Given the description of an element on the screen output the (x, y) to click on. 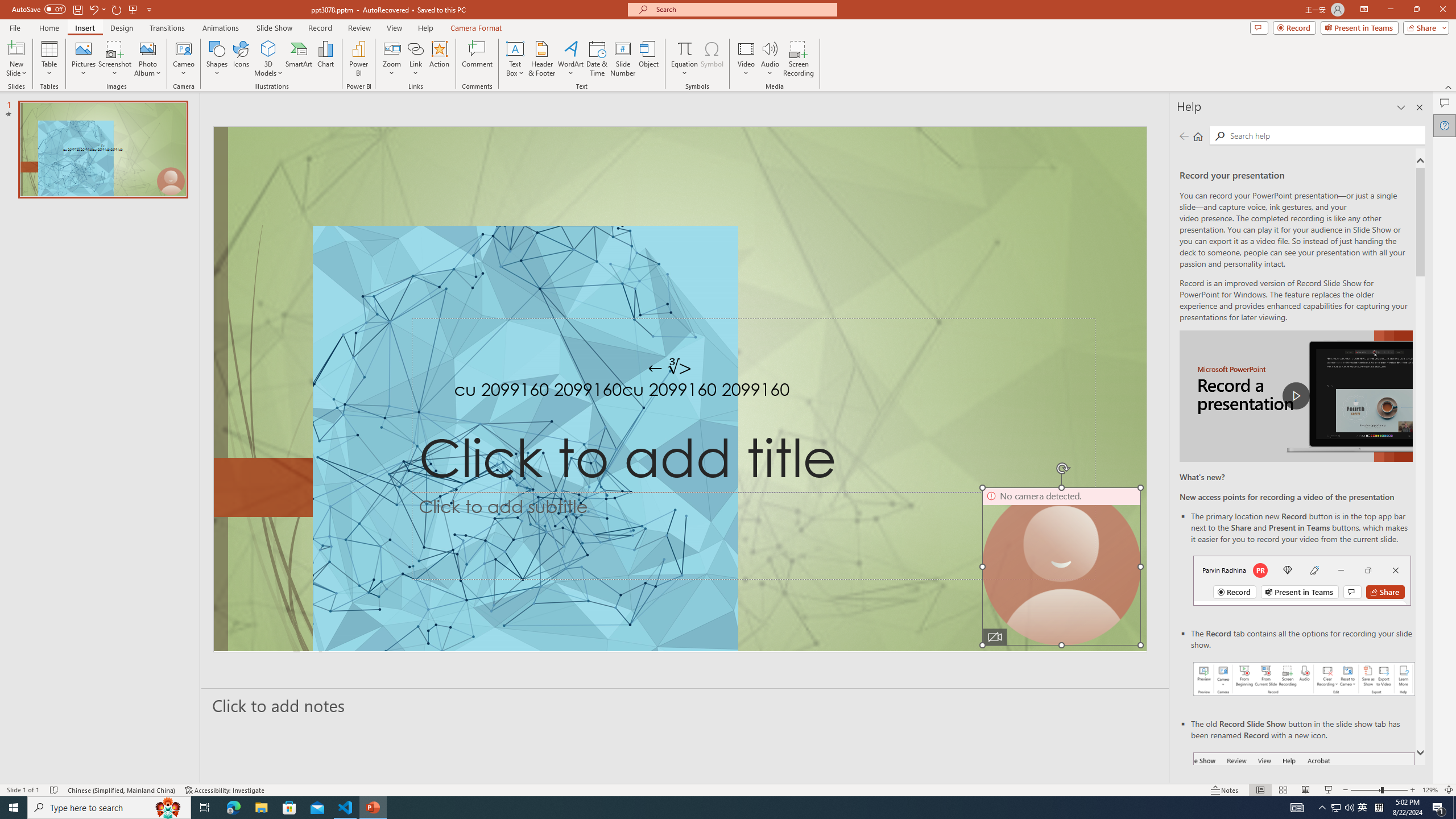
Subtitle TextBox (753, 535)
play Record a Presentation (1296, 395)
TextBox 7 (670, 367)
TextBox 61 (678, 391)
3D Models (268, 48)
Record your presentations screenshot one (1304, 678)
